Given the description of an element on the screen output the (x, y) to click on. 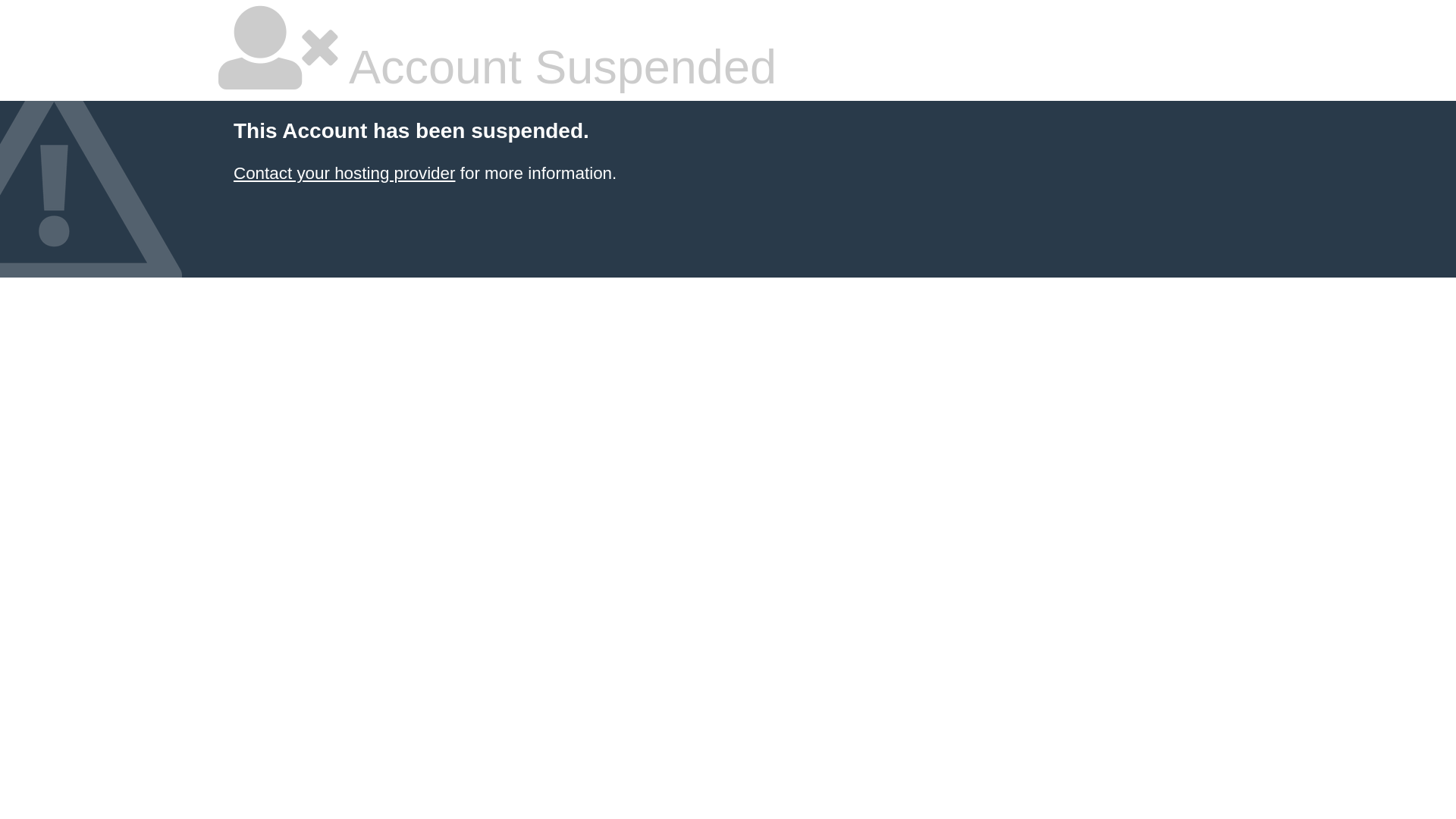
Contact your hosting provider Element type: text (344, 172)
